Given the description of an element on the screen output the (x, y) to click on. 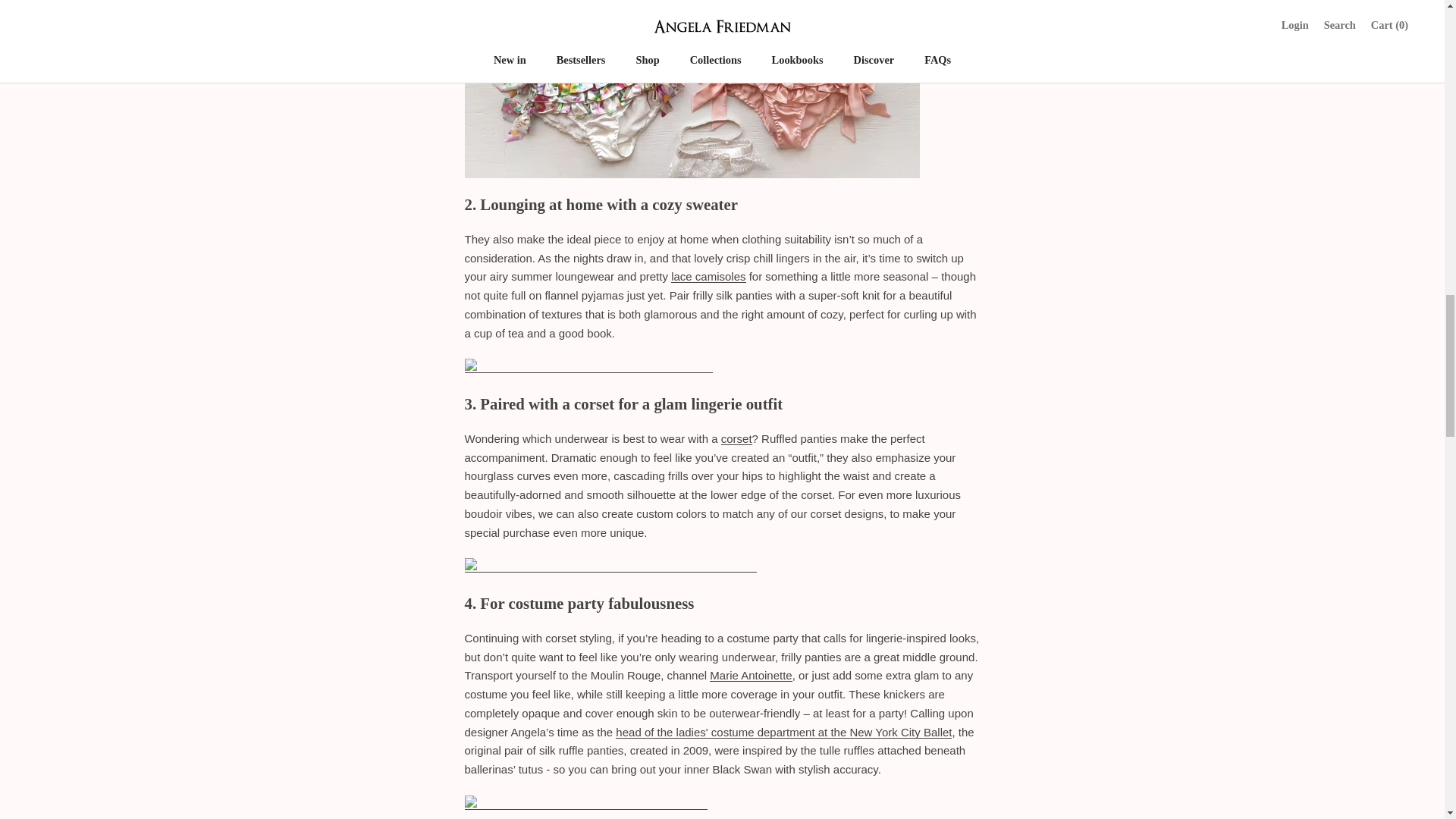
About lingerie designer Angela Friedman (783, 731)
Genevieve silk and lace camisole (708, 276)
All colors of our ruffle panties (609, 565)
Marie Antoinette themed lingerie sets and pastel underwear (751, 675)
Rose pink ruffle panties (588, 366)
Luxury corsets (736, 438)
Shop all colors of silk ruffle panties (691, 23)
